Given the description of an element on the screen output the (x, y) to click on. 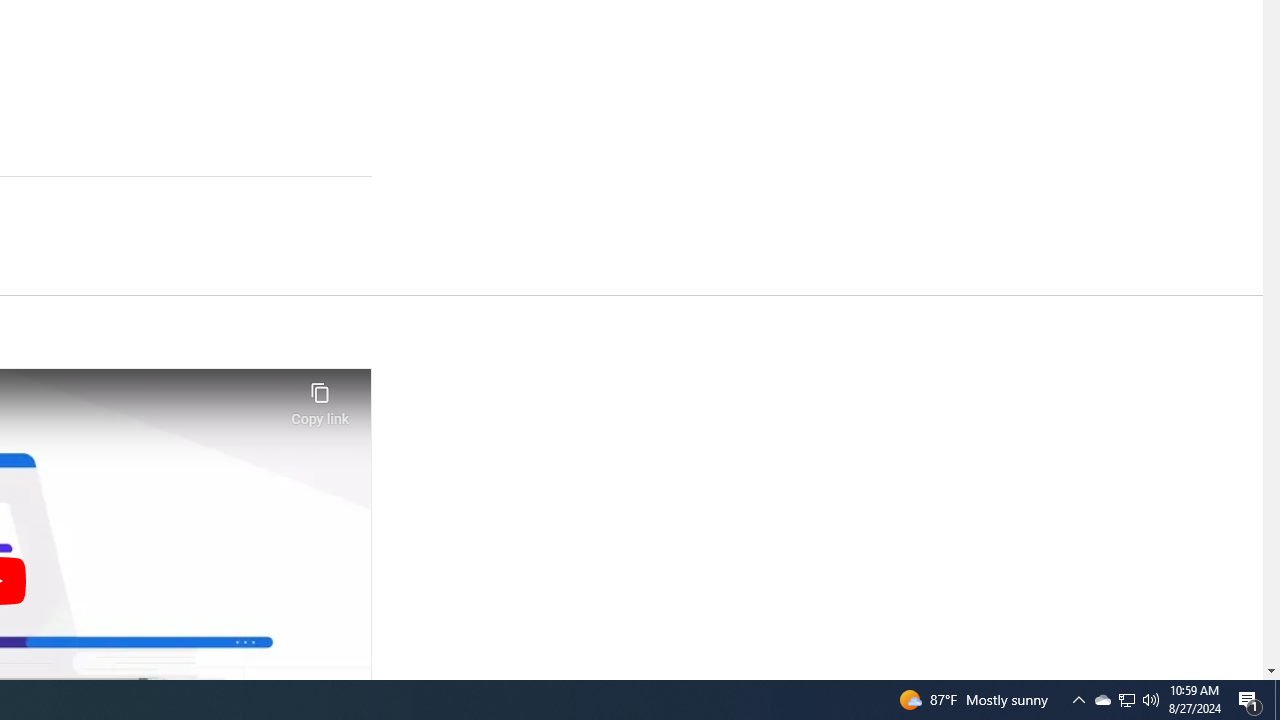
Copy link (319, 398)
